Given the description of an element on the screen output the (x, y) to click on. 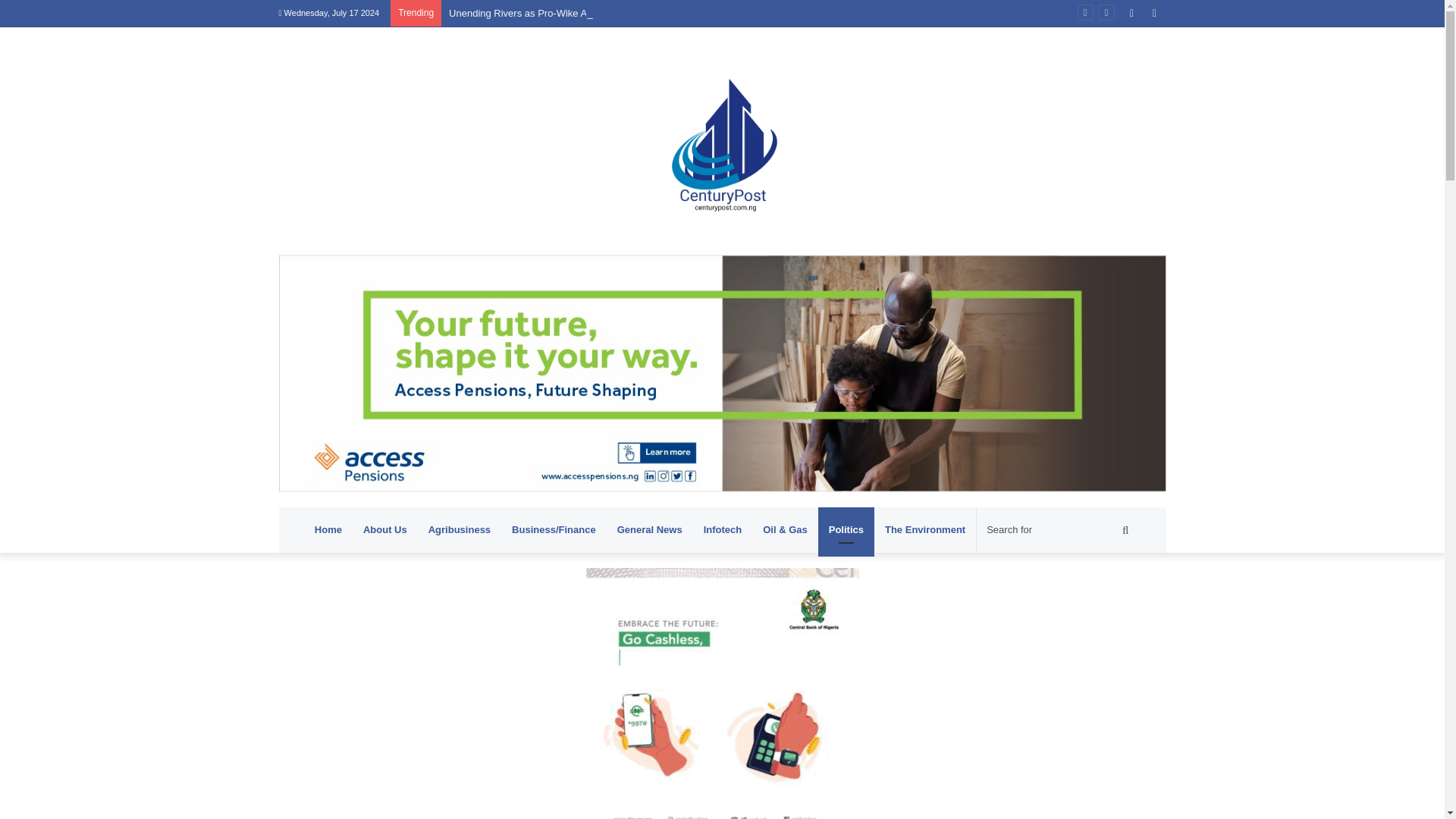
Search for (1058, 529)
The Environment (925, 529)
Home (328, 529)
Accessbank Ad (722, 372)
General News (650, 529)
CBN complaint (722, 704)
Agribusiness (458, 529)
Infotech (722, 529)
Century Post (722, 140)
Politics (846, 529)
About Us (384, 529)
